Given the description of an element on the screen output the (x, y) to click on. 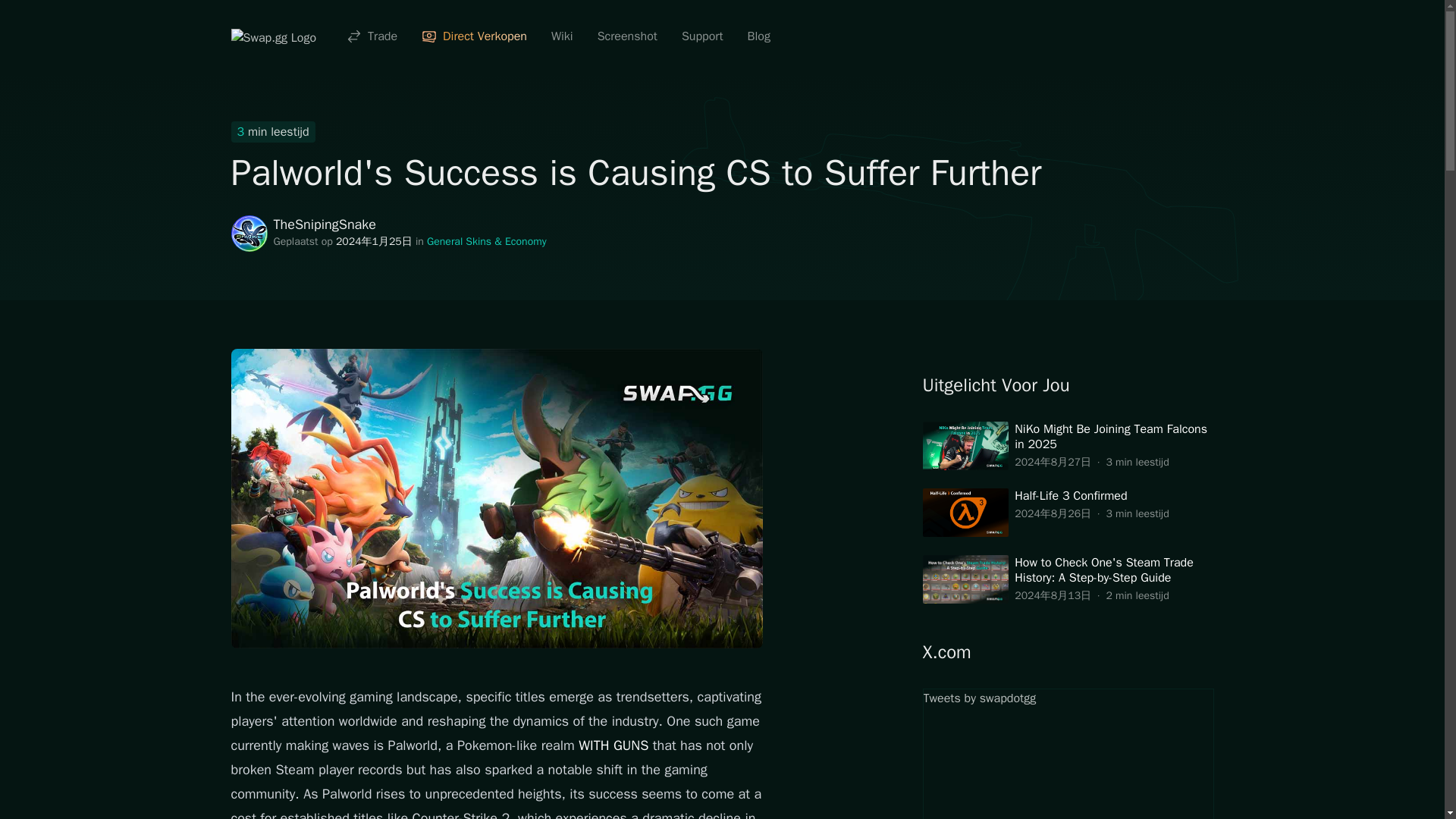
Support (702, 36)
Swap.gg (272, 36)
Tweets by swapdotgg (1066, 753)
Tweets by swapdotgg (979, 698)
Blog (758, 36)
Direct Verkopen (473, 36)
Screenshot (627, 36)
Wiki (561, 36)
Trade (371, 36)
